Given the description of an element on the screen output the (x, y) to click on. 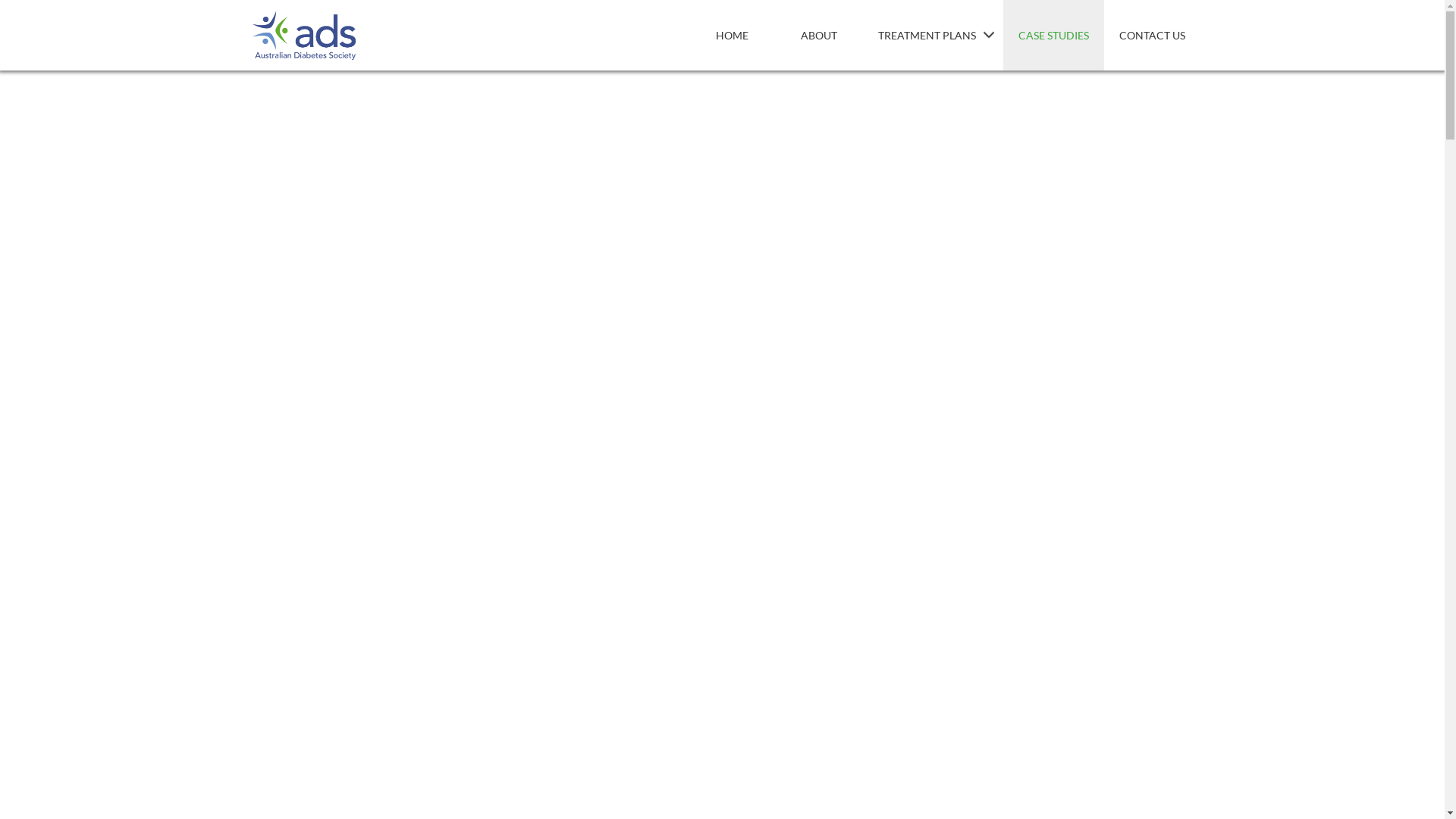
CONTACT US Element type: text (1152, 35)
ABOUT Element type: text (818, 35)
HOME Element type: text (731, 35)
CASE STUDIES Element type: text (1052, 35)
